Given the description of an element on the screen output the (x, y) to click on. 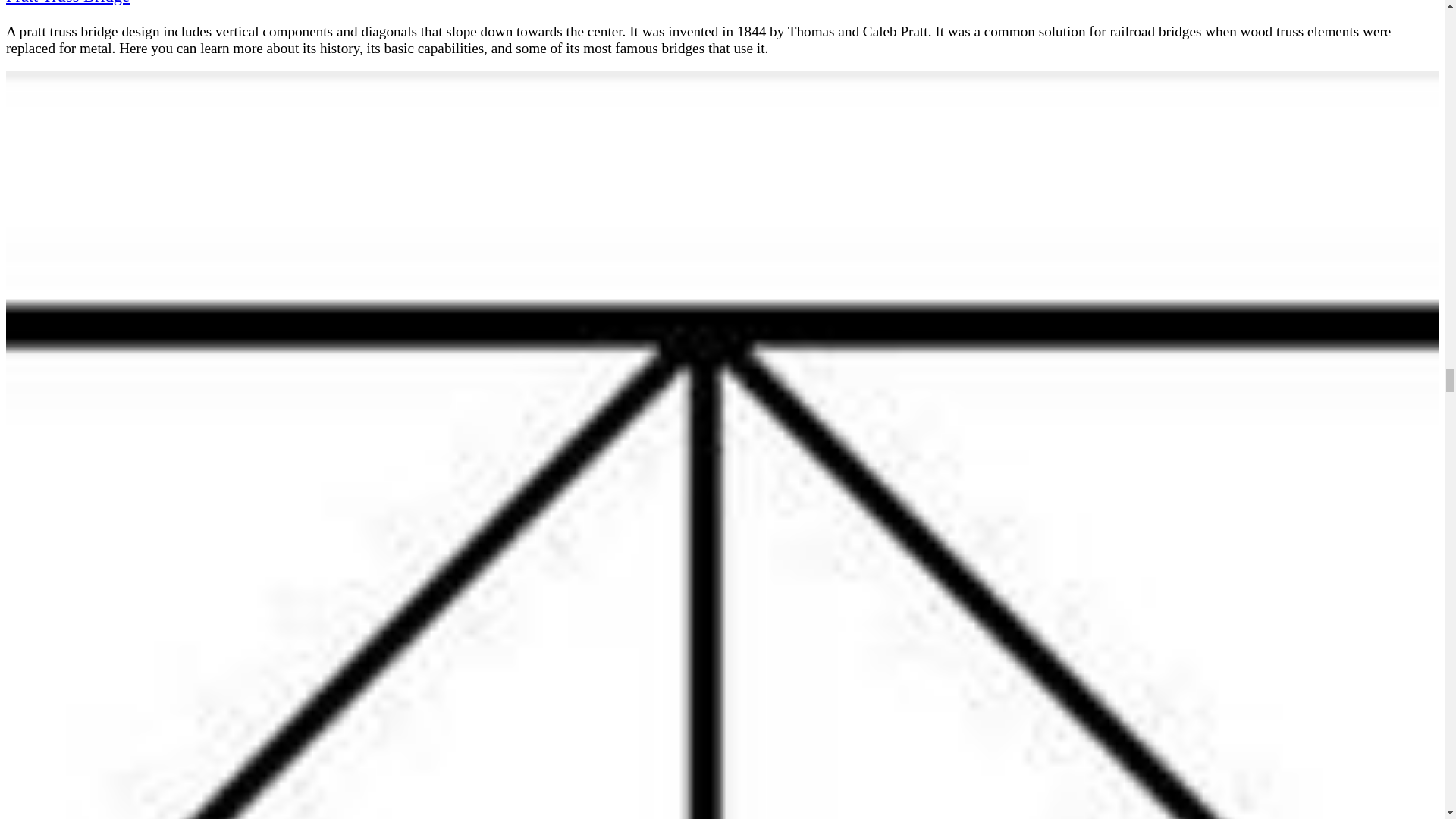
Pratt Truss Bridge (67, 2)
